Given the description of an element on the screen output the (x, y) to click on. 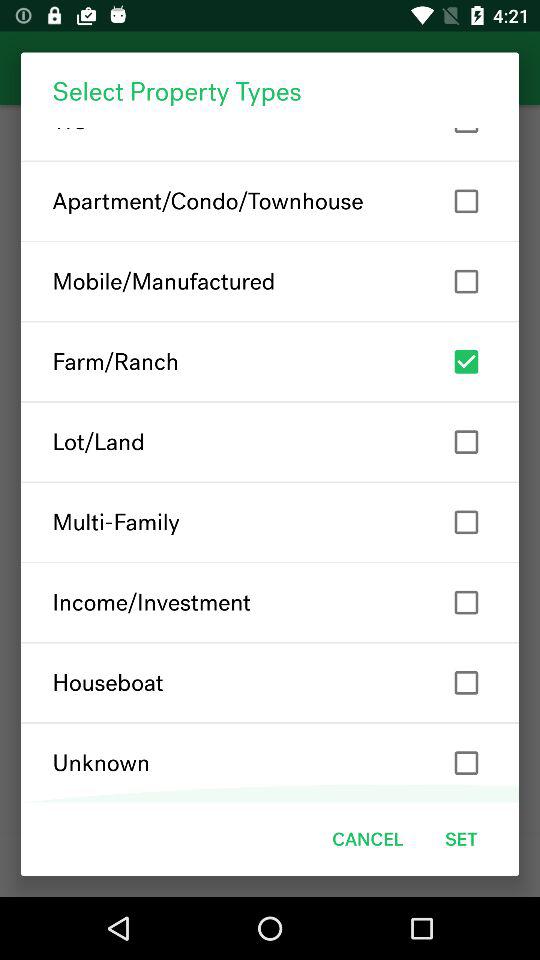
flip until the unknown (270, 762)
